Given the description of an element on the screen output the (x, y) to click on. 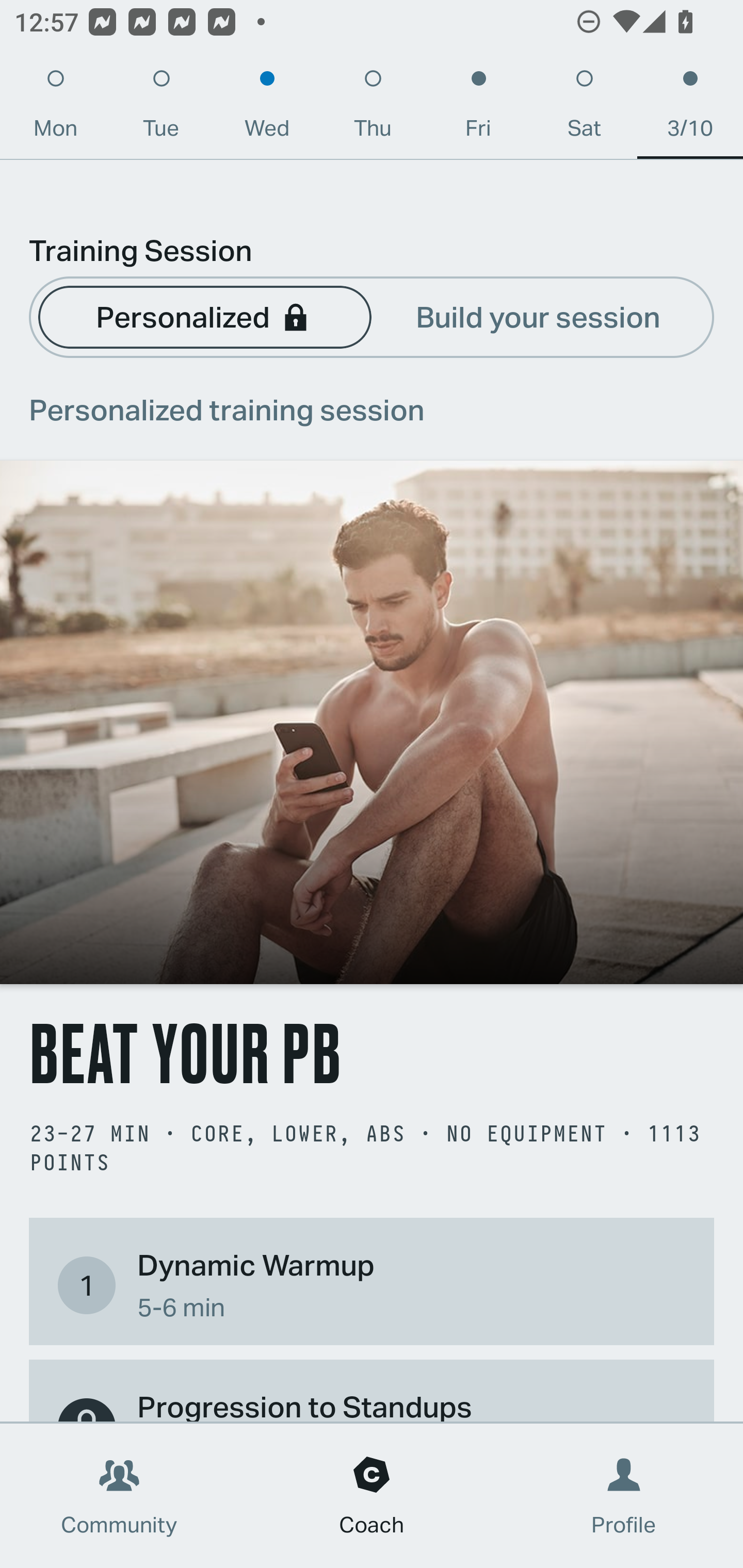
Mon (55, 108)
Tue (160, 108)
Wed (266, 108)
Thu (372, 108)
Fri (478, 108)
Sat (584, 108)
3/10 (690, 108)
Personalized (204, 315)
Build your session (538, 315)
1 Dynamic Warmup 5-6 min (371, 1284)
Community (119, 1495)
Profile (624, 1495)
